Given the description of an element on the screen output the (x, y) to click on. 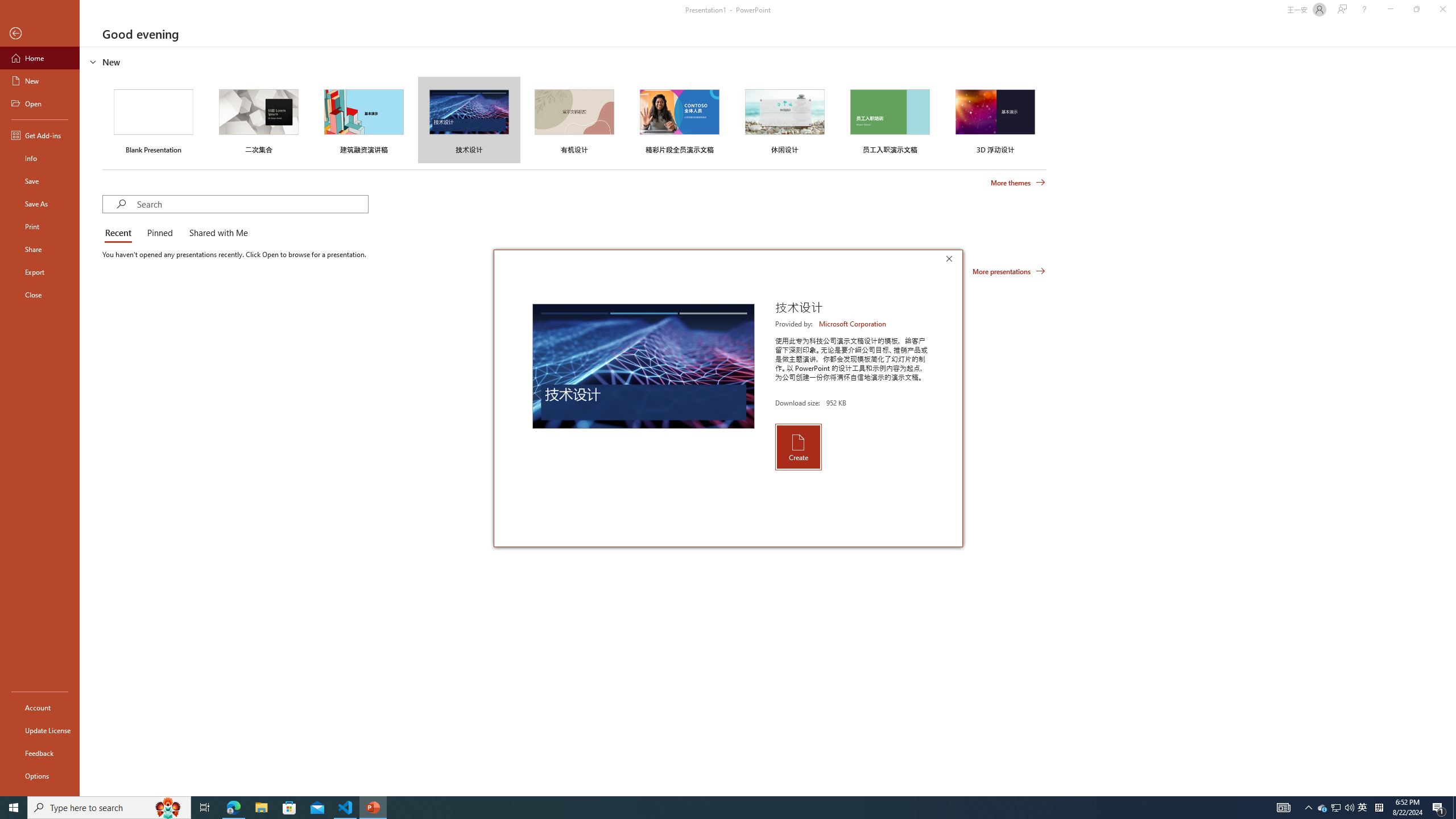
Recent (119, 233)
Create (797, 446)
Info (40, 157)
Hide or show region (92, 61)
More presentations (1008, 270)
